Given the description of an element on the screen output the (x, y) to click on. 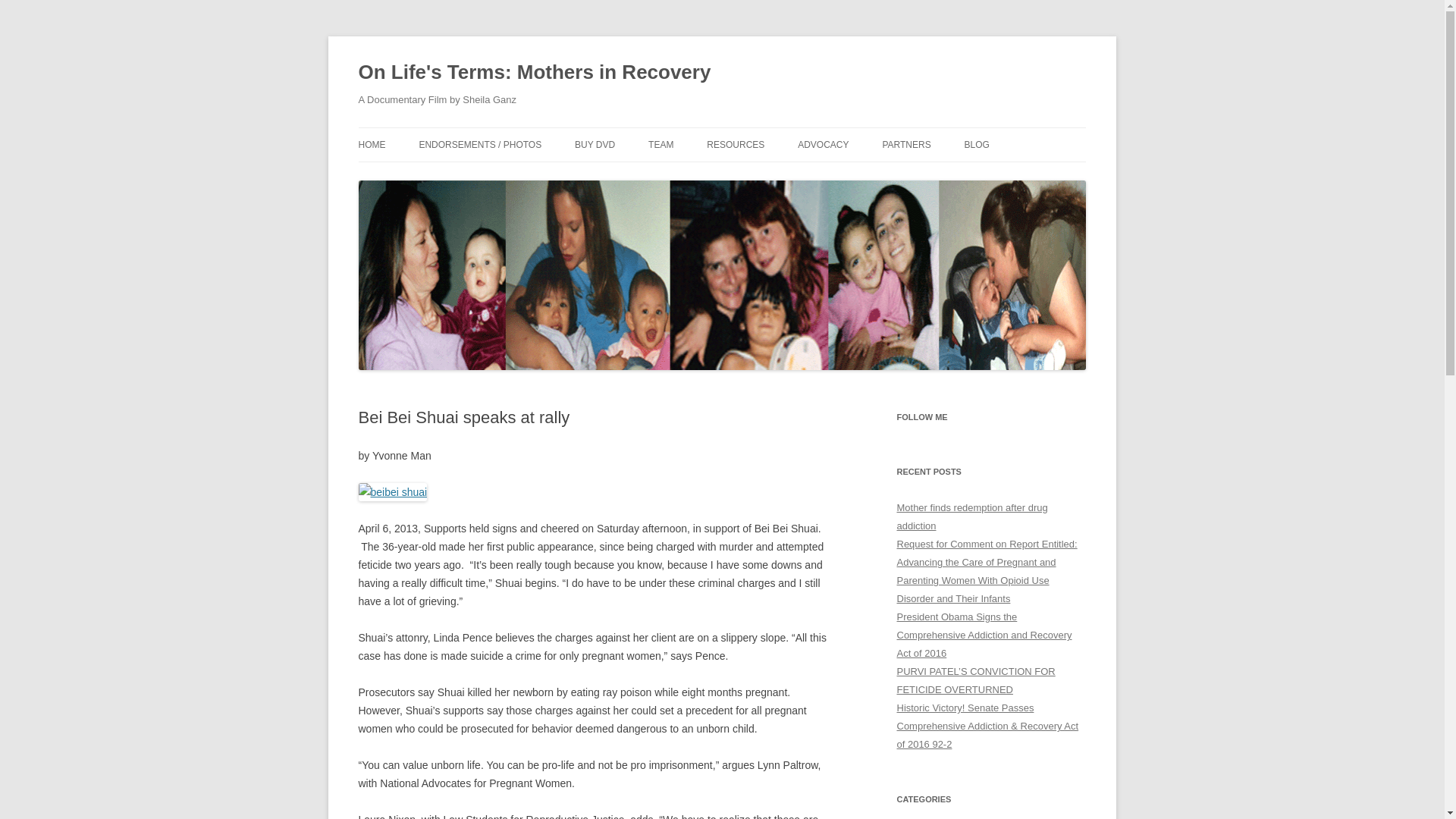
ADVOCACY (822, 144)
Mother finds redemption after drug addiction (971, 516)
BUY DVD (594, 144)
On Life's Terms: Mothers in Recovery (534, 72)
RESOURCES (735, 144)
PARTNERS (906, 144)
